Given the description of an element on the screen output the (x, y) to click on. 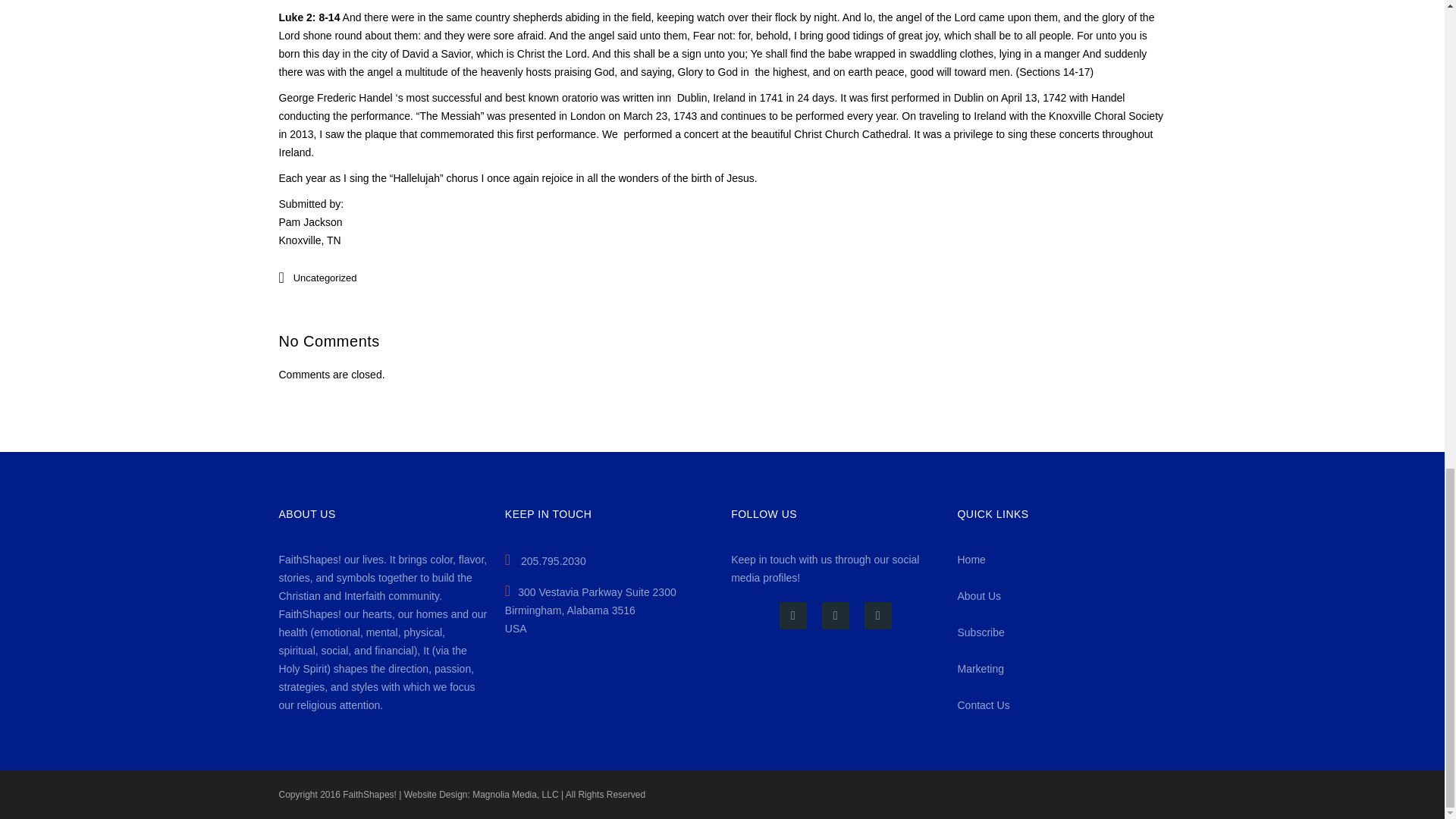
LinkedIn (877, 615)
Facebook (792, 615)
Home (970, 559)
About Us (978, 595)
Subscribe (980, 632)
Twitter (835, 615)
Uncategorized (325, 277)
